Given the description of an element on the screen output the (x, y) to click on. 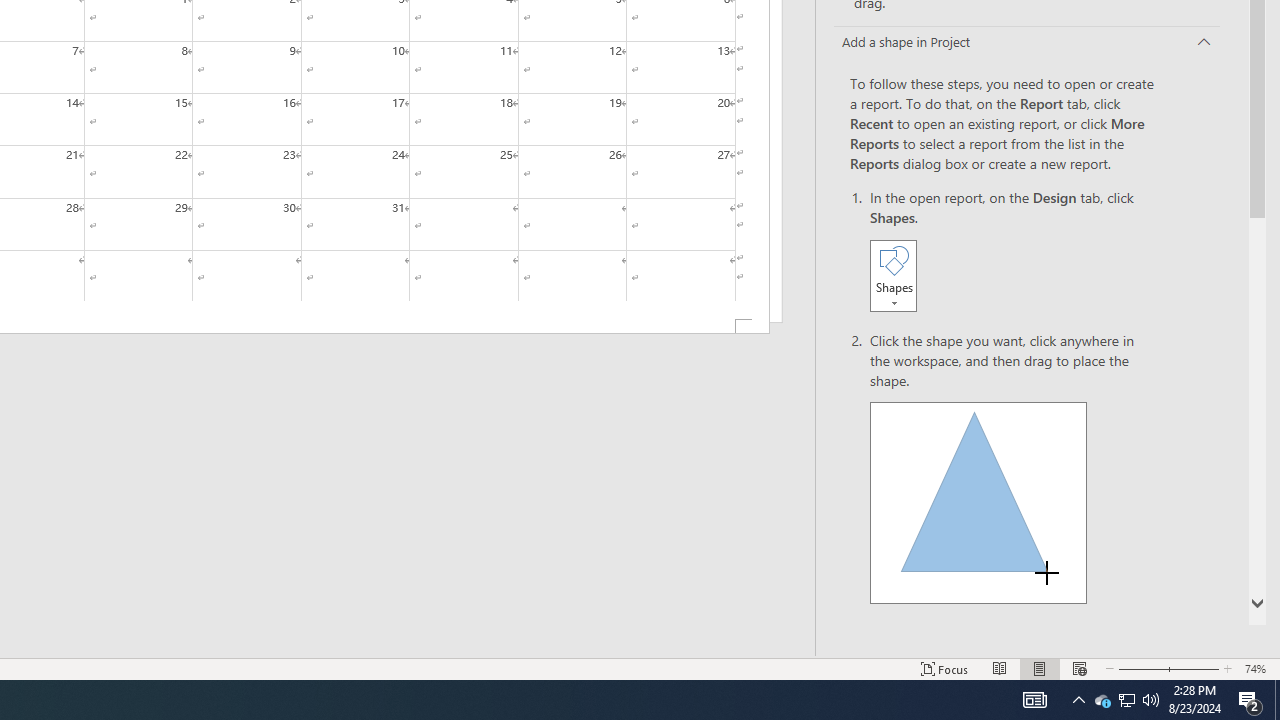
In the open report, on the Design tab, click Shapes. (1012, 251)
Add a shape in Project (1026, 43)
Drawing a shape (978, 502)
Insert Shapes button (893, 275)
